Given the description of an element on the screen output the (x, y) to click on. 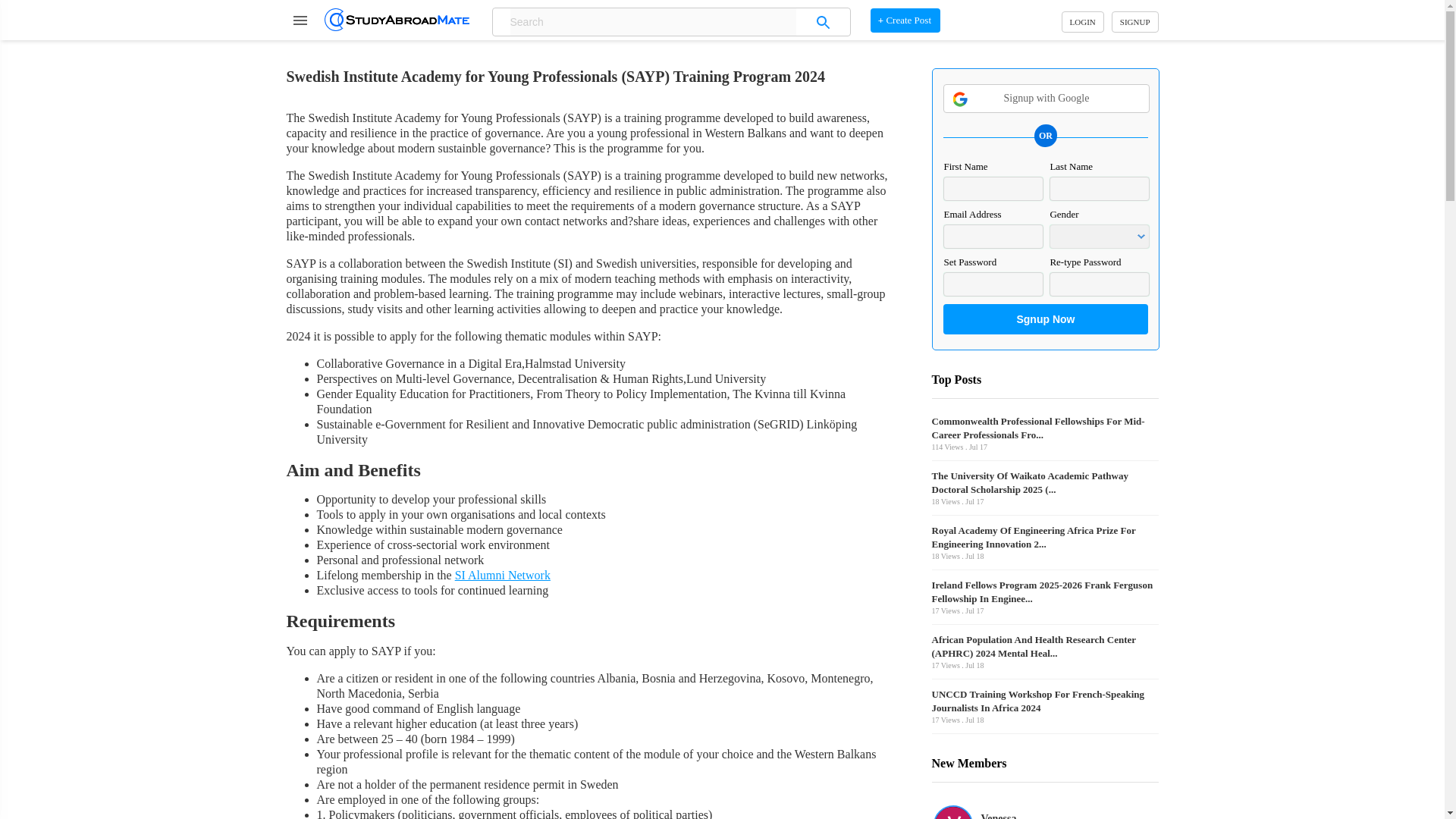
LOGIN (1082, 21)
SI Alumni Network (502, 574)
SIGNUP (1135, 21)
Sgnup Now (1045, 318)
